Given the description of an element on the screen output the (x, y) to click on. 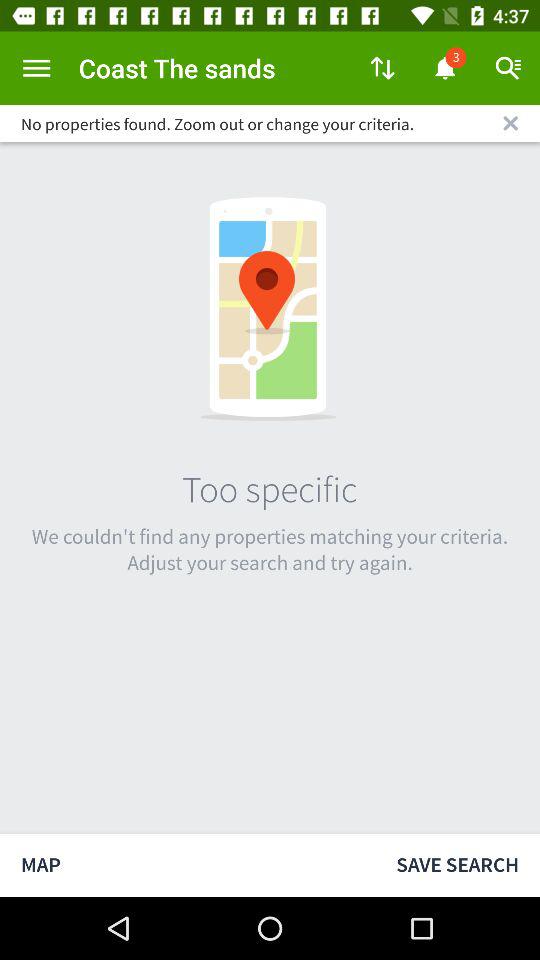
menu drop down (36, 68)
